Given the description of an element on the screen output the (x, y) to click on. 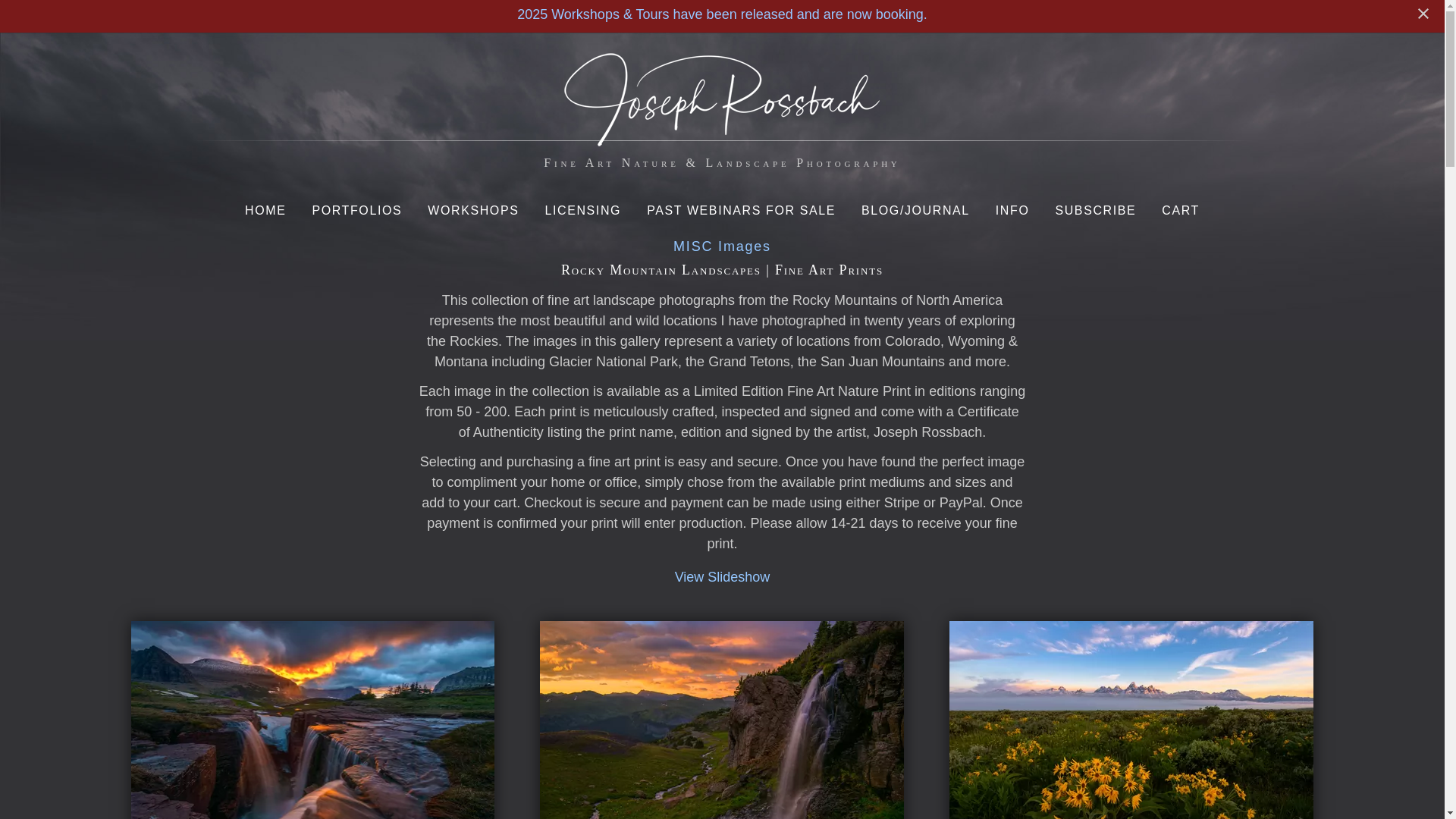
Joseph Rossbach Photography (722, 136)
PAST WEBINARS FOR SALE (740, 204)
MISC Images (721, 246)
View Slideshow (722, 576)
LICENSING (582, 204)
SUBSCRIBE (1095, 204)
WORKSHOPS (472, 204)
CART (1180, 204)
PORTFOLIOS (356, 204)
HOME (265, 204)
INFO (1013, 204)
